Given the description of an element on the screen output the (x, y) to click on. 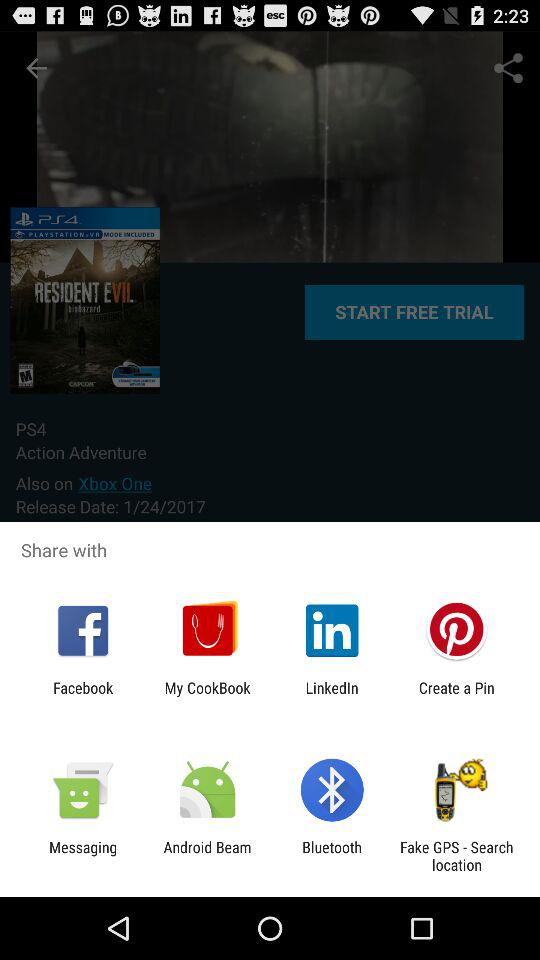
click the item next to the my cookbook icon (83, 696)
